Given the description of an element on the screen output the (x, y) to click on. 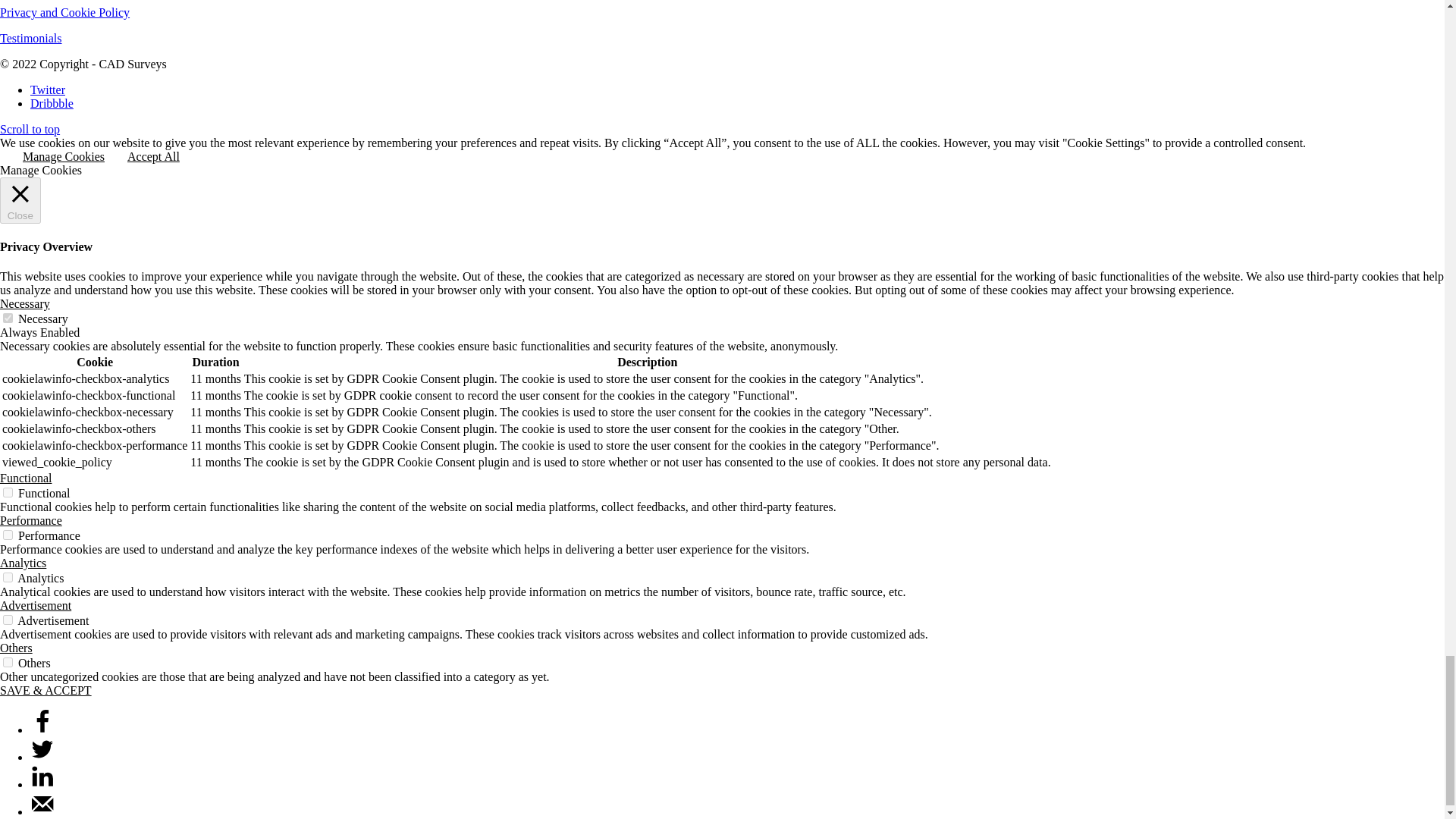
Twitter (47, 89)
on (7, 534)
Privacy and Cookie Policy (64, 11)
on (7, 577)
Dribbble (52, 103)
Dribbble (52, 103)
on (7, 619)
Send over email (42, 811)
Share on Facebook (42, 729)
on (7, 317)
